Given the description of an element on the screen output the (x, y) to click on. 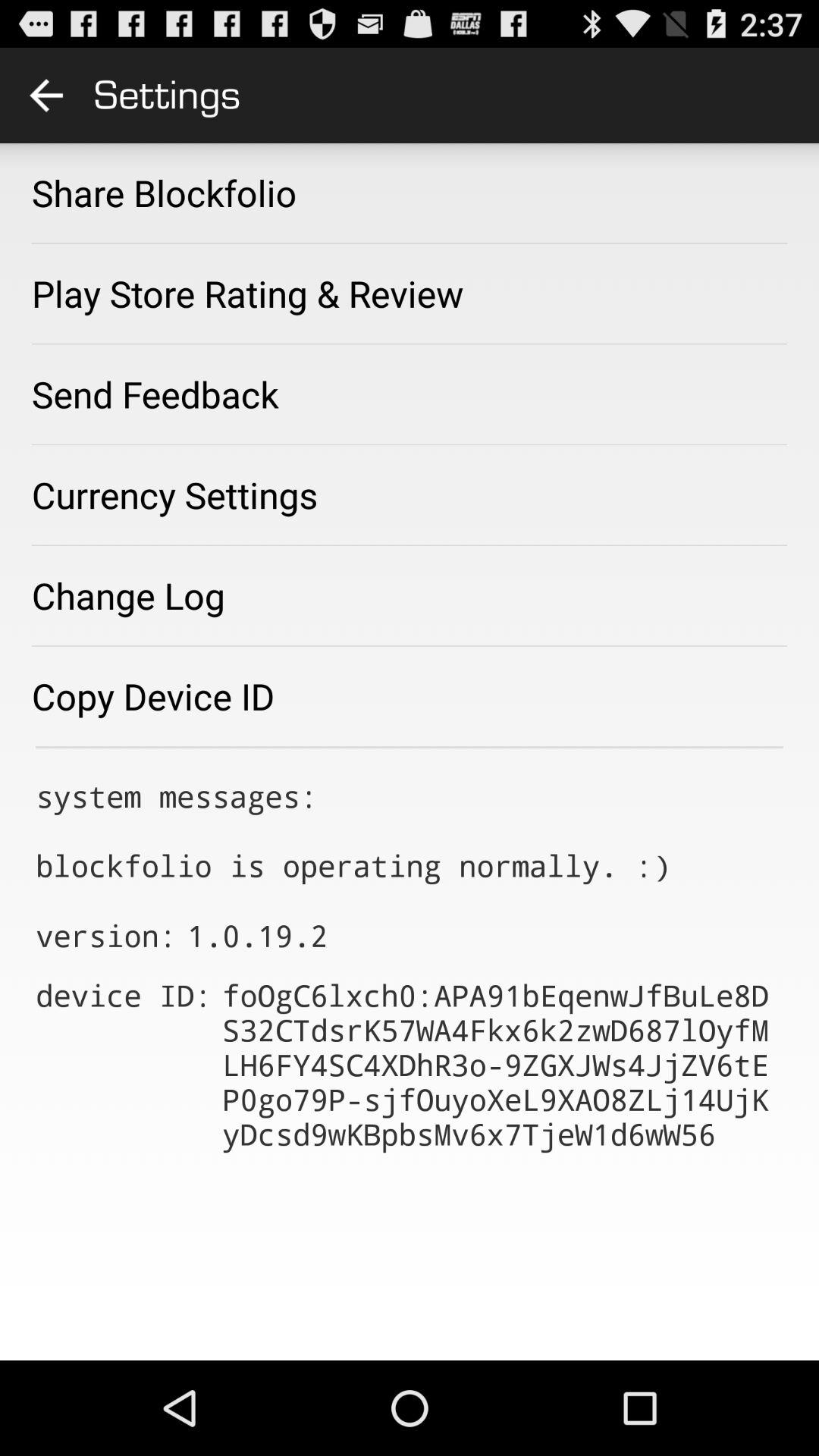
tap the currency settings item (174, 494)
